Given the description of an element on the screen output the (x, y) to click on. 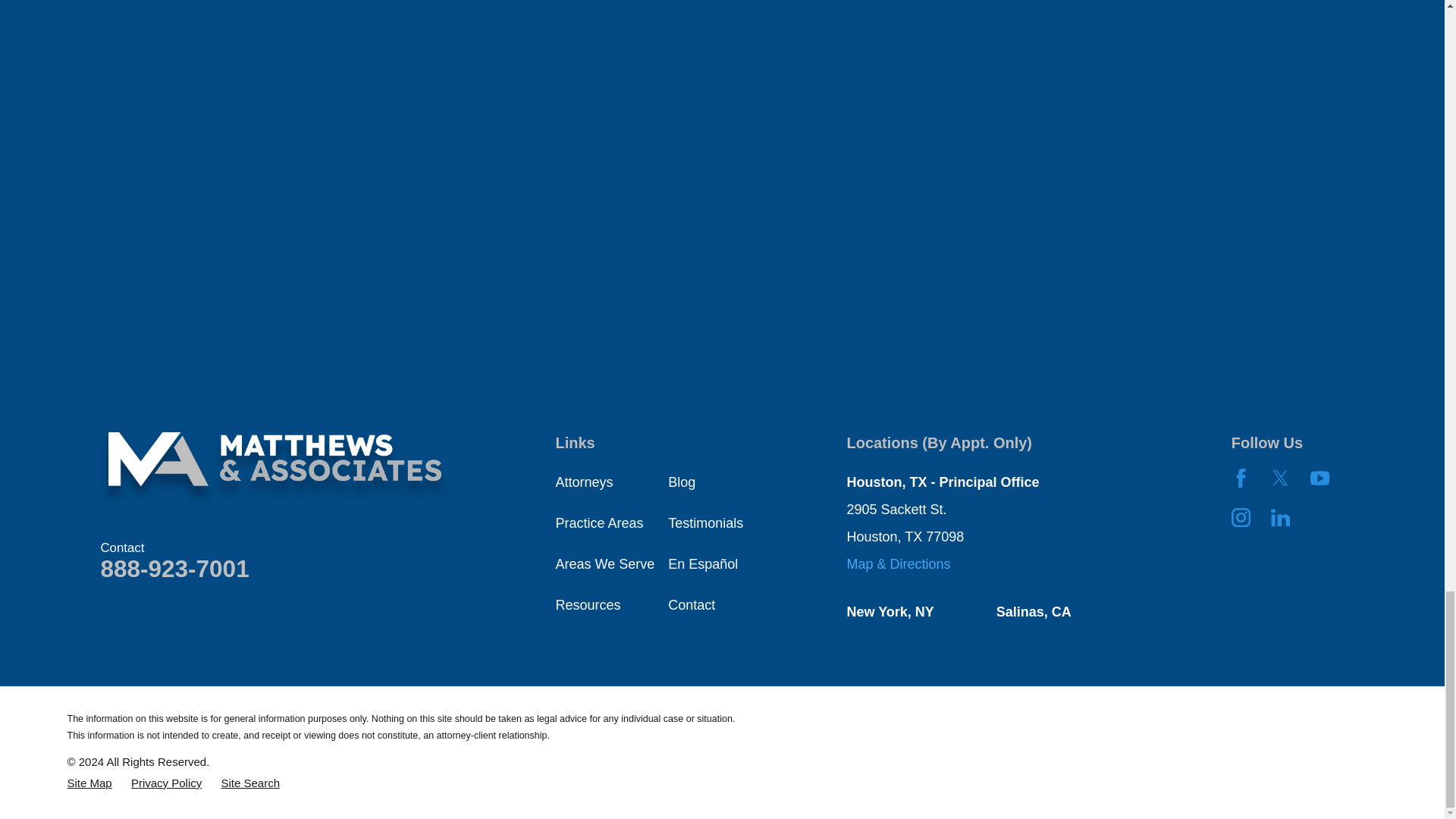
Twitter (1280, 477)
Home (274, 468)
LinkedIn (1280, 517)
YouTube (1319, 477)
Facebook (1240, 477)
Instagram (1240, 517)
